Given the description of an element on the screen output the (x, y) to click on. 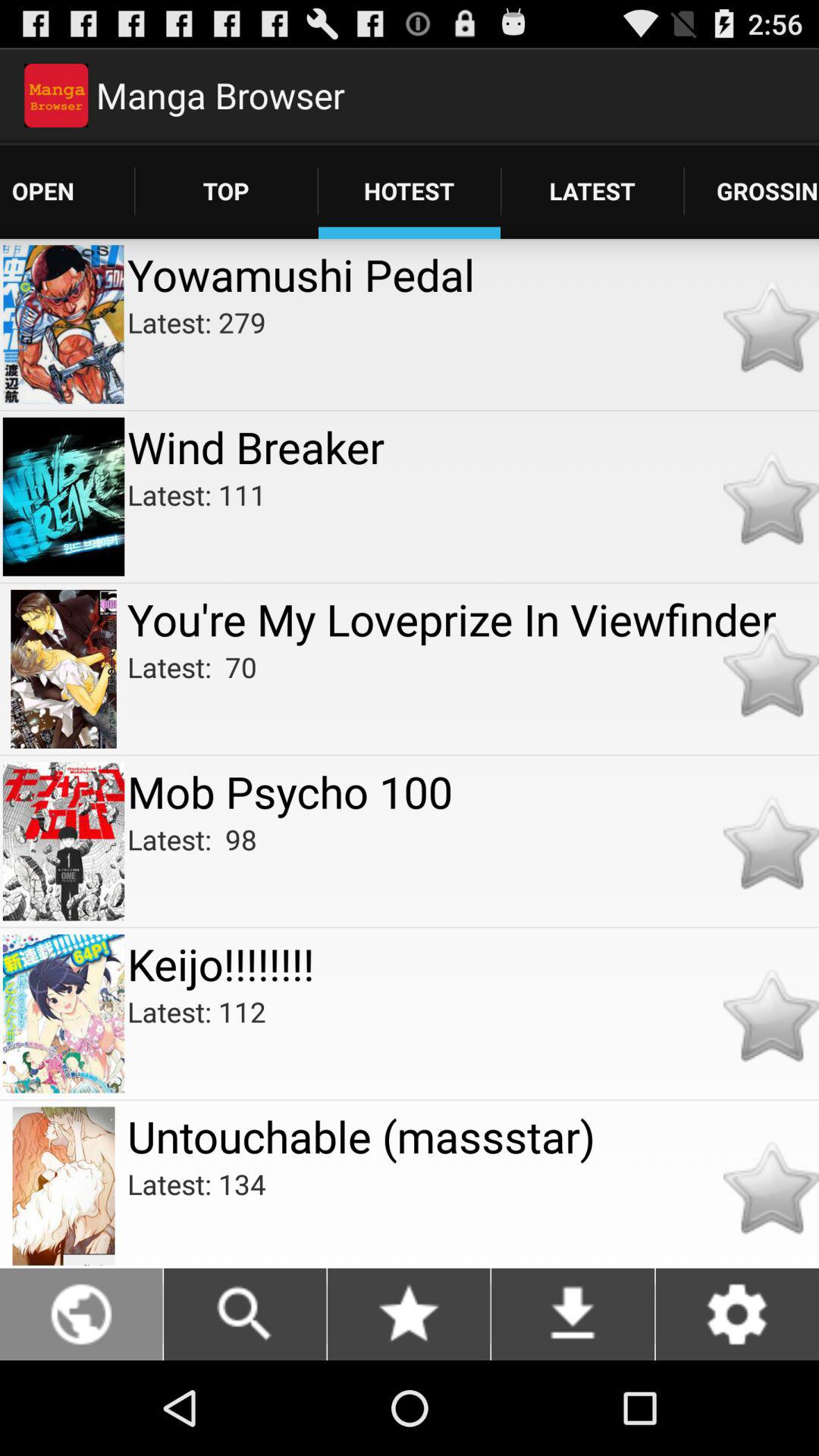
scroll until the you re my (473, 618)
